Given the description of an element on the screen output the (x, y) to click on. 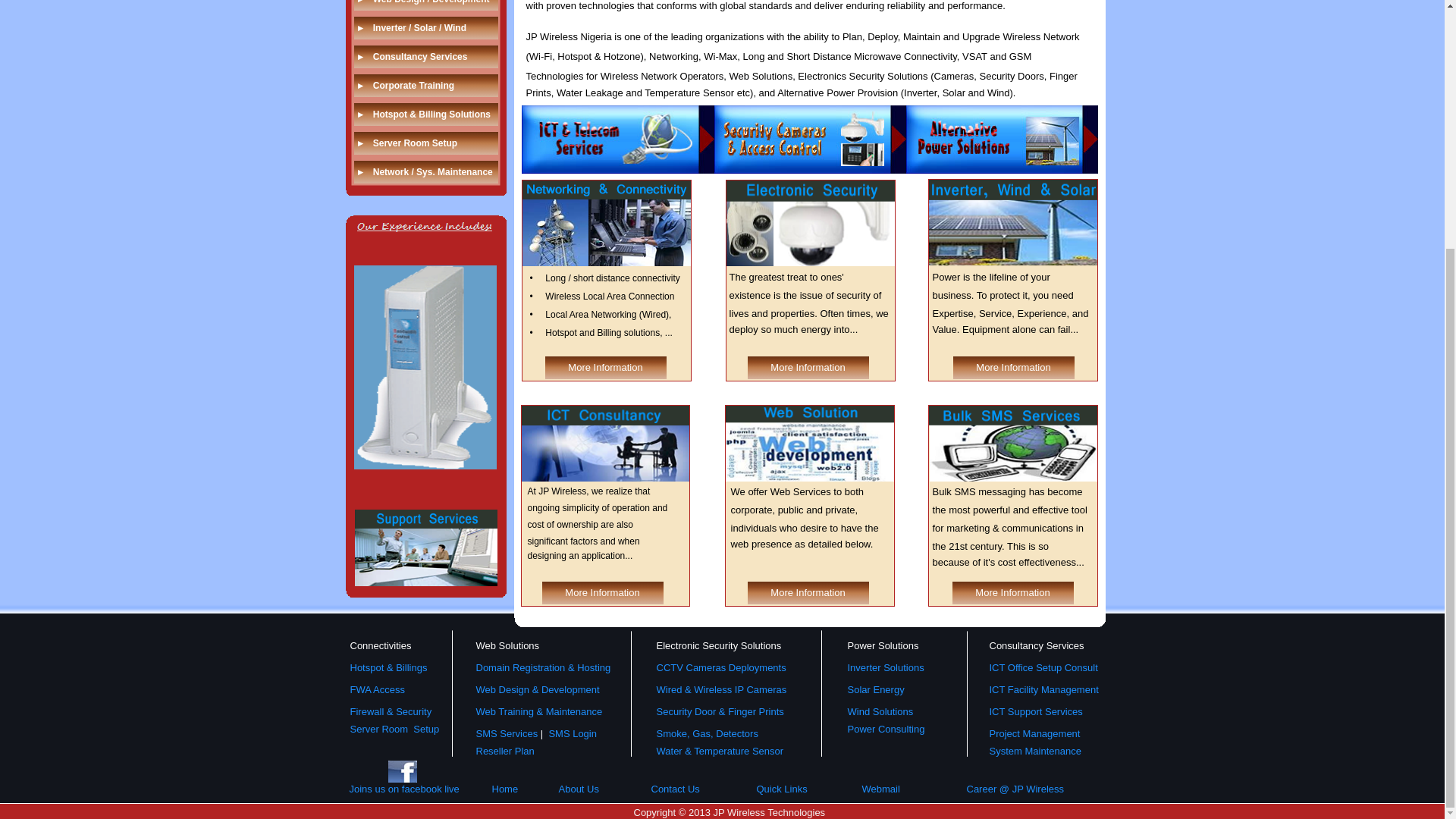
CCTV Cameras Deployments (721, 667)
Server Room  Setup (394, 728)
SMS Services (507, 733)
Webmail (880, 788)
Solar Energy (875, 689)
FWA Access (377, 689)
ICT Facility Management (1042, 689)
Home (505, 788)
SMS Login (572, 733)
Inverter Solutions (885, 667)
Project Management (1034, 733)
ICT Office Setup Consult (1042, 667)
Contact Us (674, 788)
Quick Links (782, 788)
ICT Support Services (1034, 711)
